Given the description of an element on the screen output the (x, y) to click on. 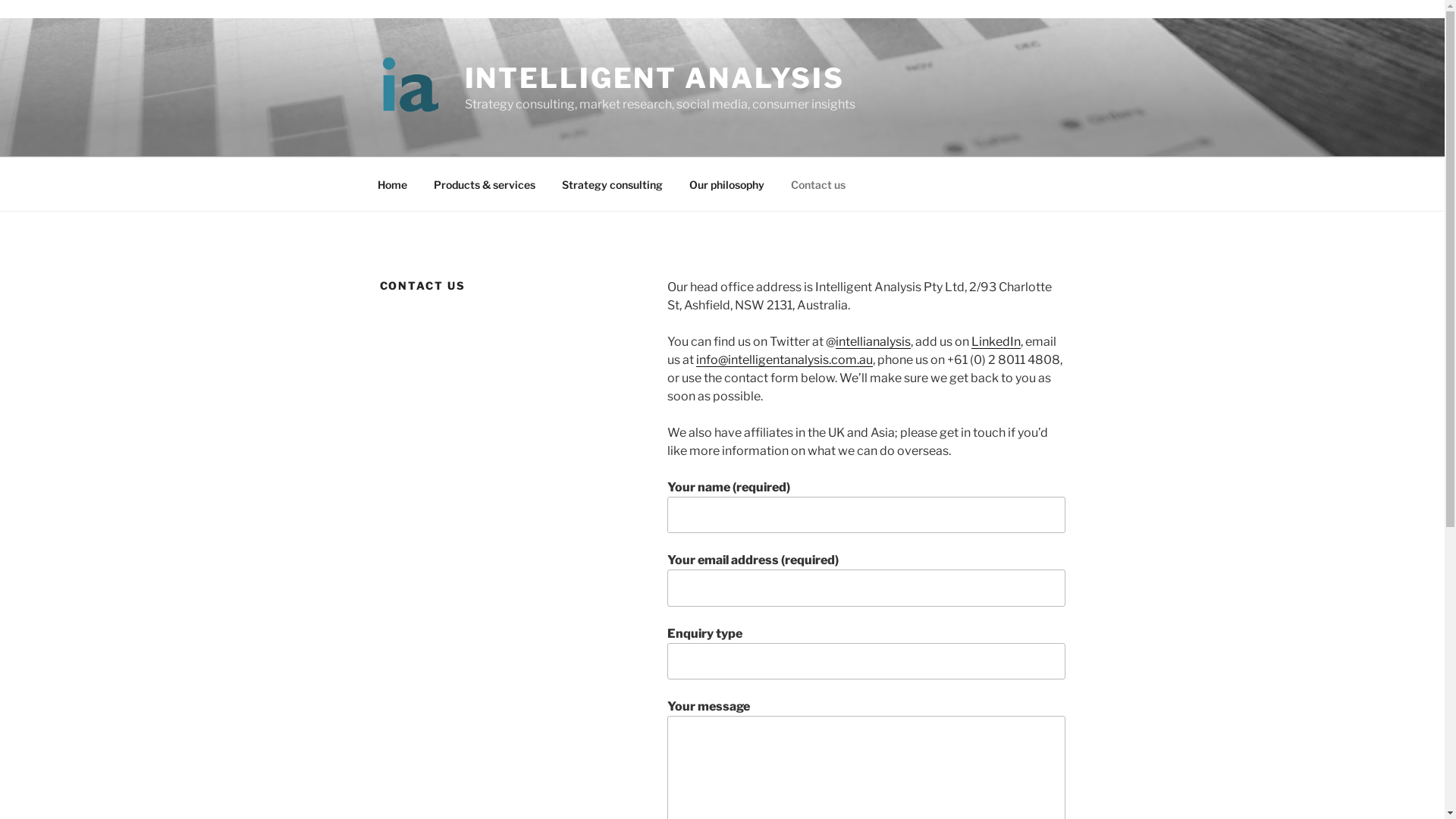
intellianalysis Element type: text (872, 341)
Products & services Element type: text (484, 183)
INTELLIGENT ANALYSIS Element type: text (654, 77)
Contact us Element type: text (818, 183)
info@intelligentanalysis.com.au Element type: text (784, 359)
LinkedIn Element type: text (995, 341)
Our philosophy Element type: text (727, 183)
Strategy consulting Element type: text (612, 183)
Home Element type: text (392, 183)
